Given the description of an element on the screen output the (x, y) to click on. 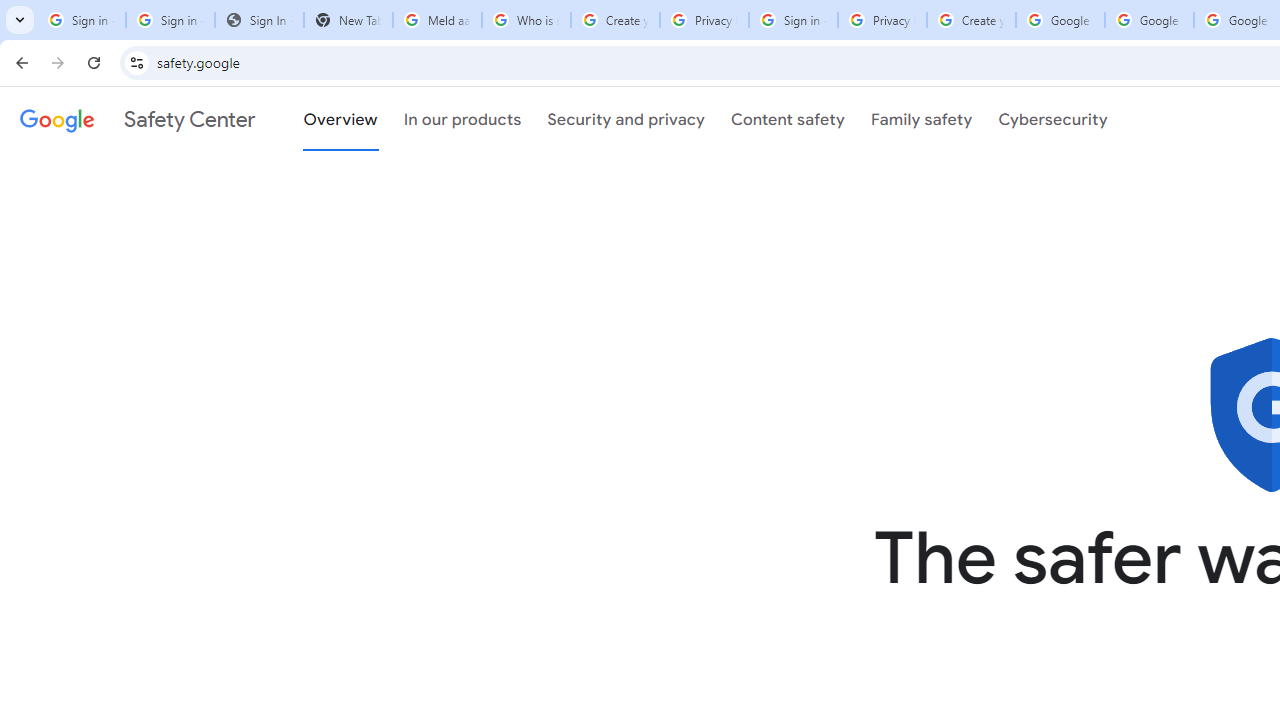
Sign in - Google Accounts (793, 20)
Safety Center (137, 119)
Sign In - USA TODAY (259, 20)
Cybersecurity (1053, 119)
Create your Google Account (971, 20)
In our products (462, 119)
Family safety (921, 119)
Create your Google Account (615, 20)
